Given the description of an element on the screen output the (x, y) to click on. 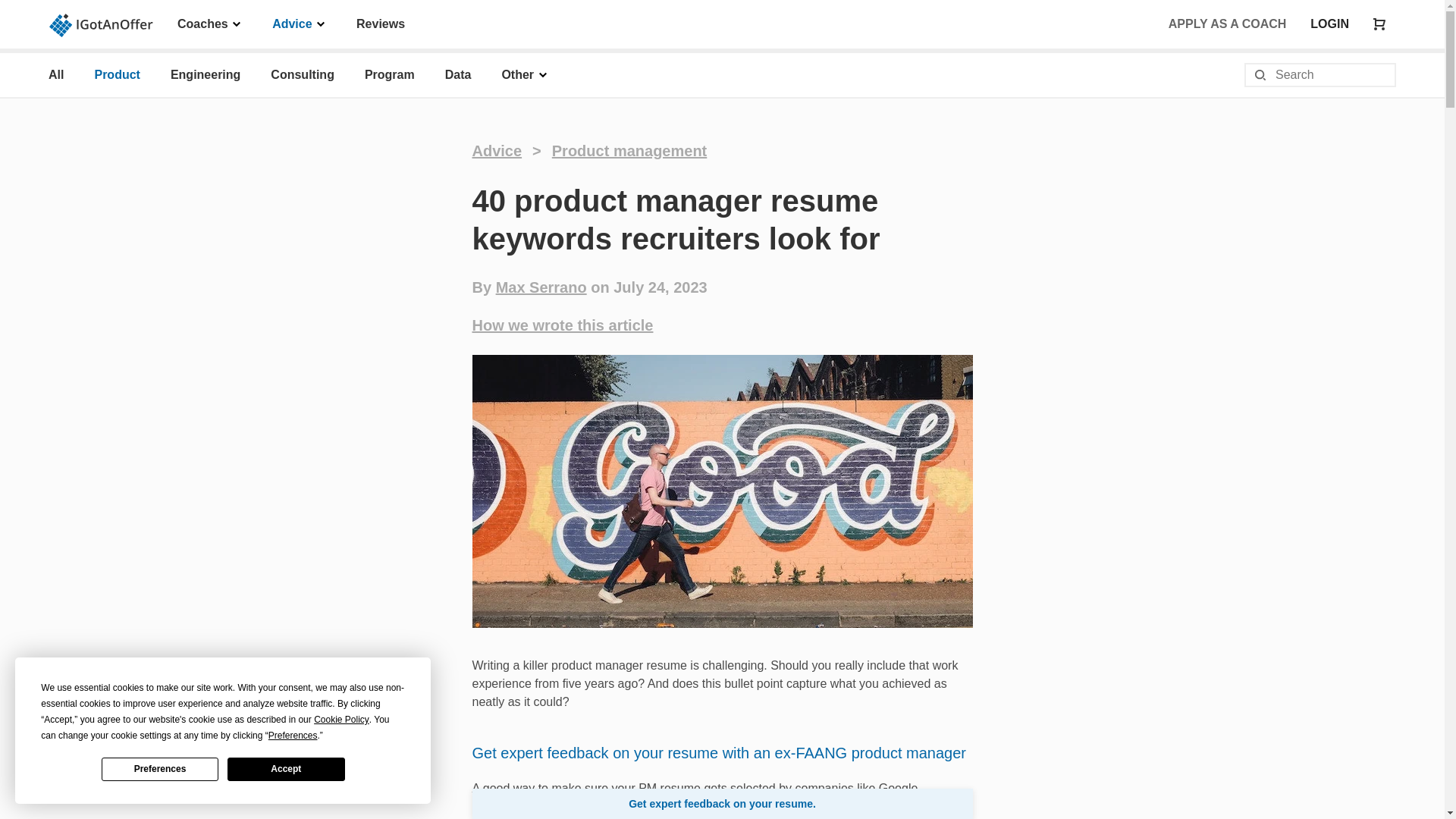
Coaches (209, 23)
Accept (285, 769)
Advice (299, 23)
Cookie Policy (341, 719)
Get expert feedback on your resume. (721, 803)
Preferences (292, 735)
Resume review coaching page (718, 752)
APPLY AS A COACH (1228, 24)
Preferences (159, 769)
LOGIN (1329, 24)
Reviews (380, 23)
